Given the description of an element on the screen output the (x, y) to click on. 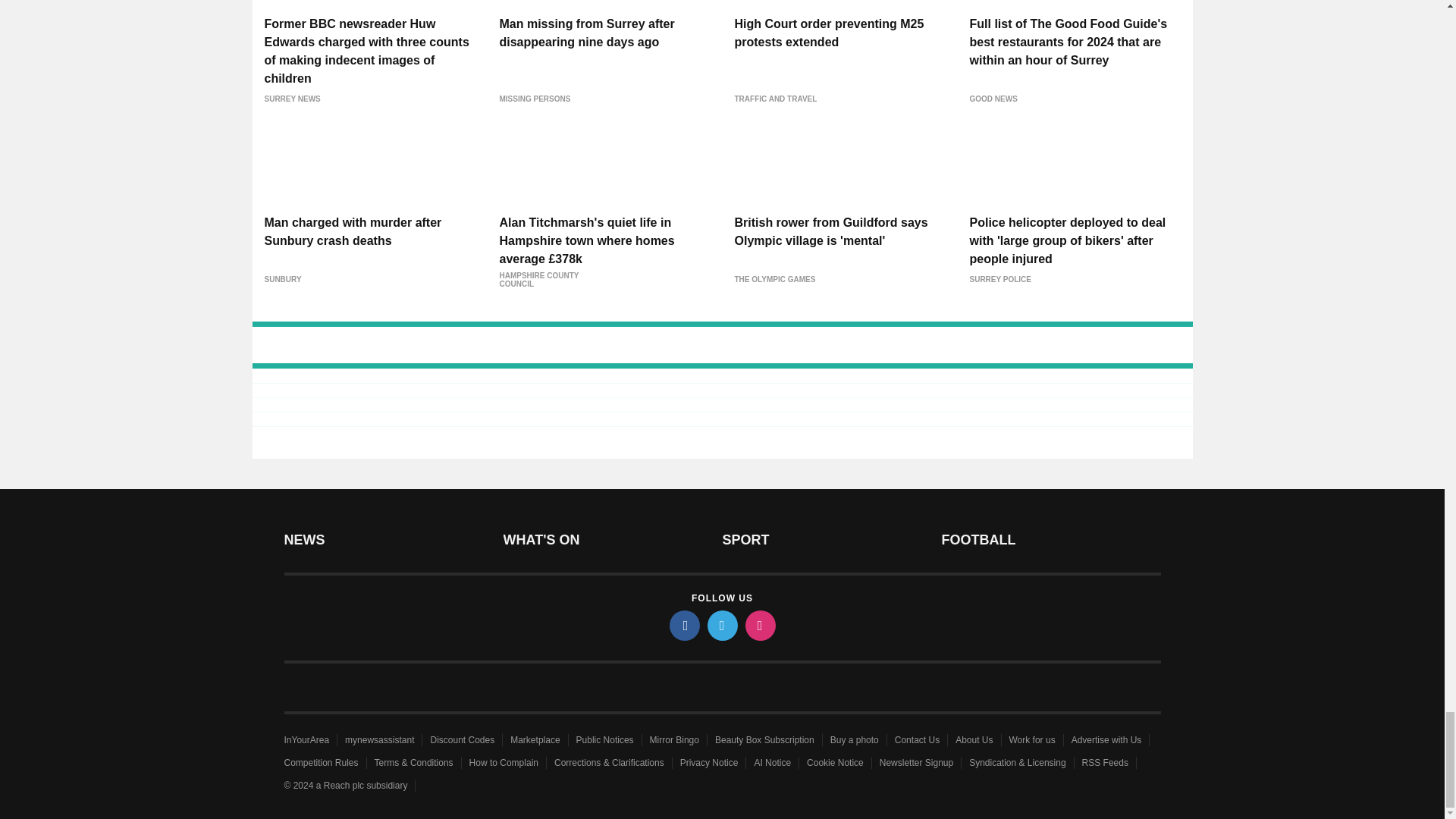
twitter (721, 625)
facebook (683, 625)
instagram (759, 625)
